Given the description of an element on the screen output the (x, y) to click on. 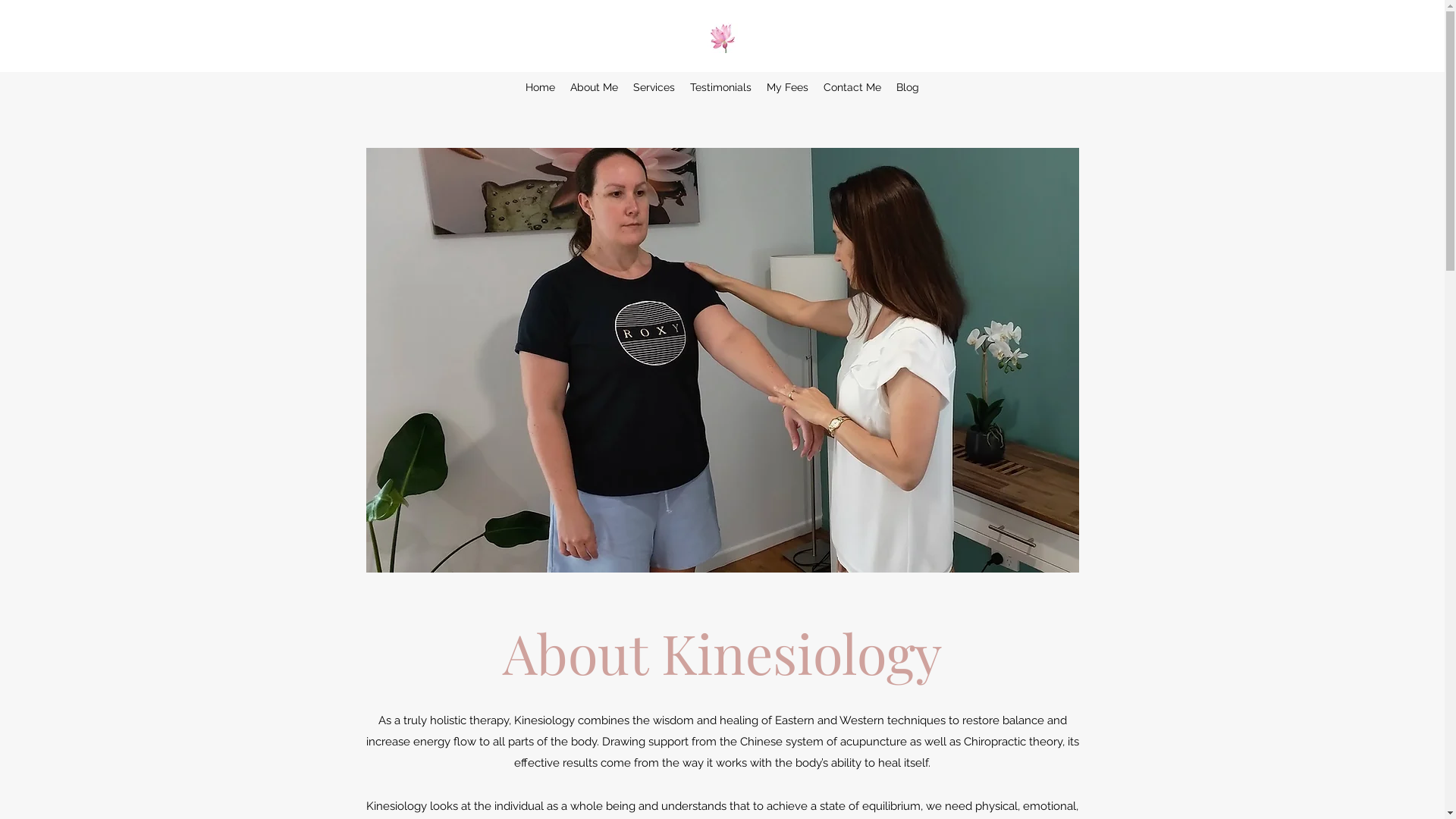
Services Element type: text (653, 86)
Contact Me Element type: text (851, 86)
Blog Element type: text (907, 86)
About Me Element type: text (593, 86)
My Fees Element type: text (787, 86)
Home Element type: text (539, 86)
Testimonials Element type: text (720, 86)
